Given the description of an element on the screen output the (x, y) to click on. 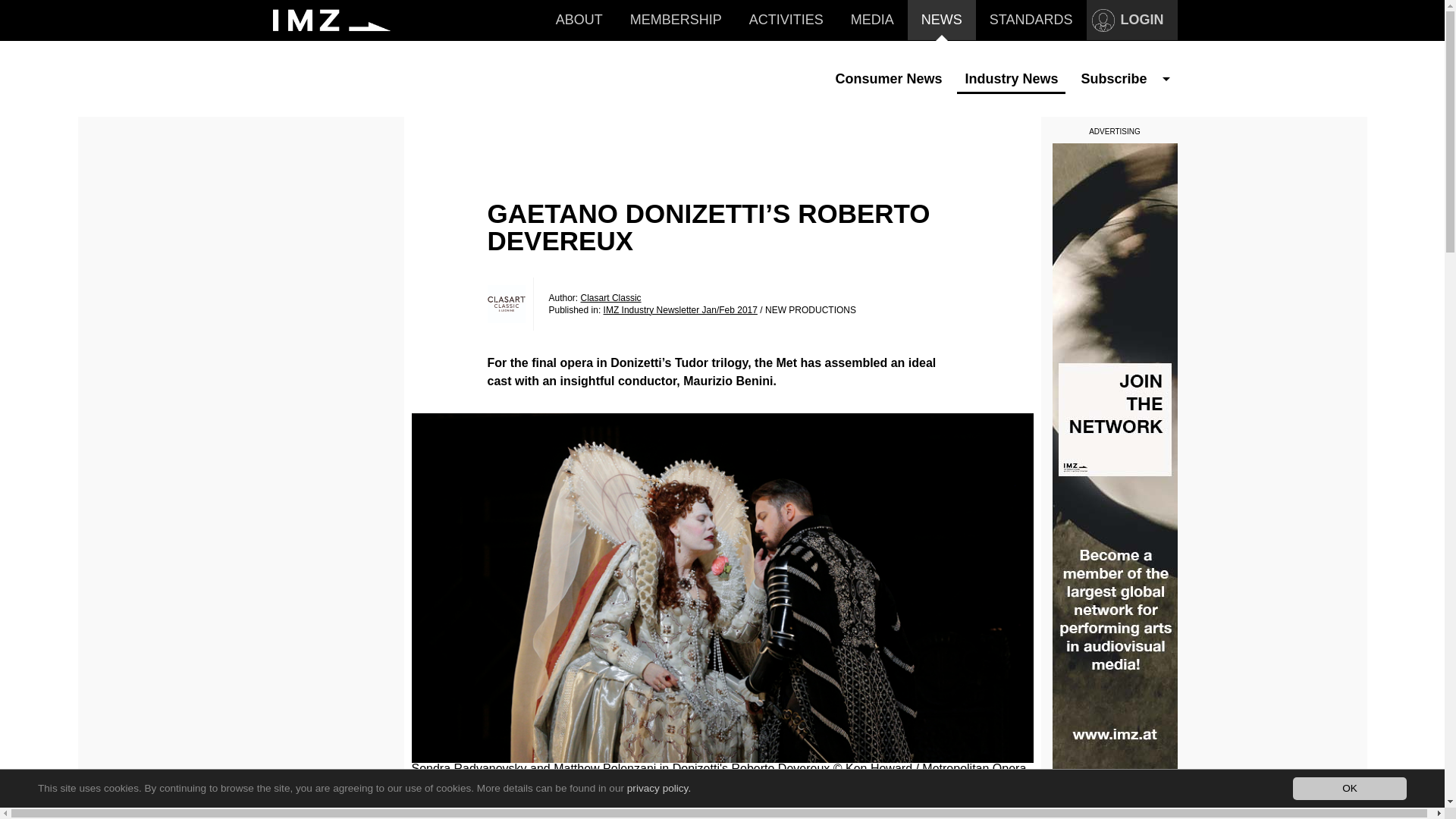
MEMBERSHIP (676, 19)
Clasart Classic (505, 303)
Subscribe (1113, 78)
MEDIA (871, 19)
Consumer News (888, 78)
ABOUT (579, 19)
NEWS (941, 19)
Clasart Classic (611, 297)
STANDARDS (1031, 19)
ACTIVITIES (786, 19)
Industry News (1010, 78)
